Given the description of an element on the screen output the (x, y) to click on. 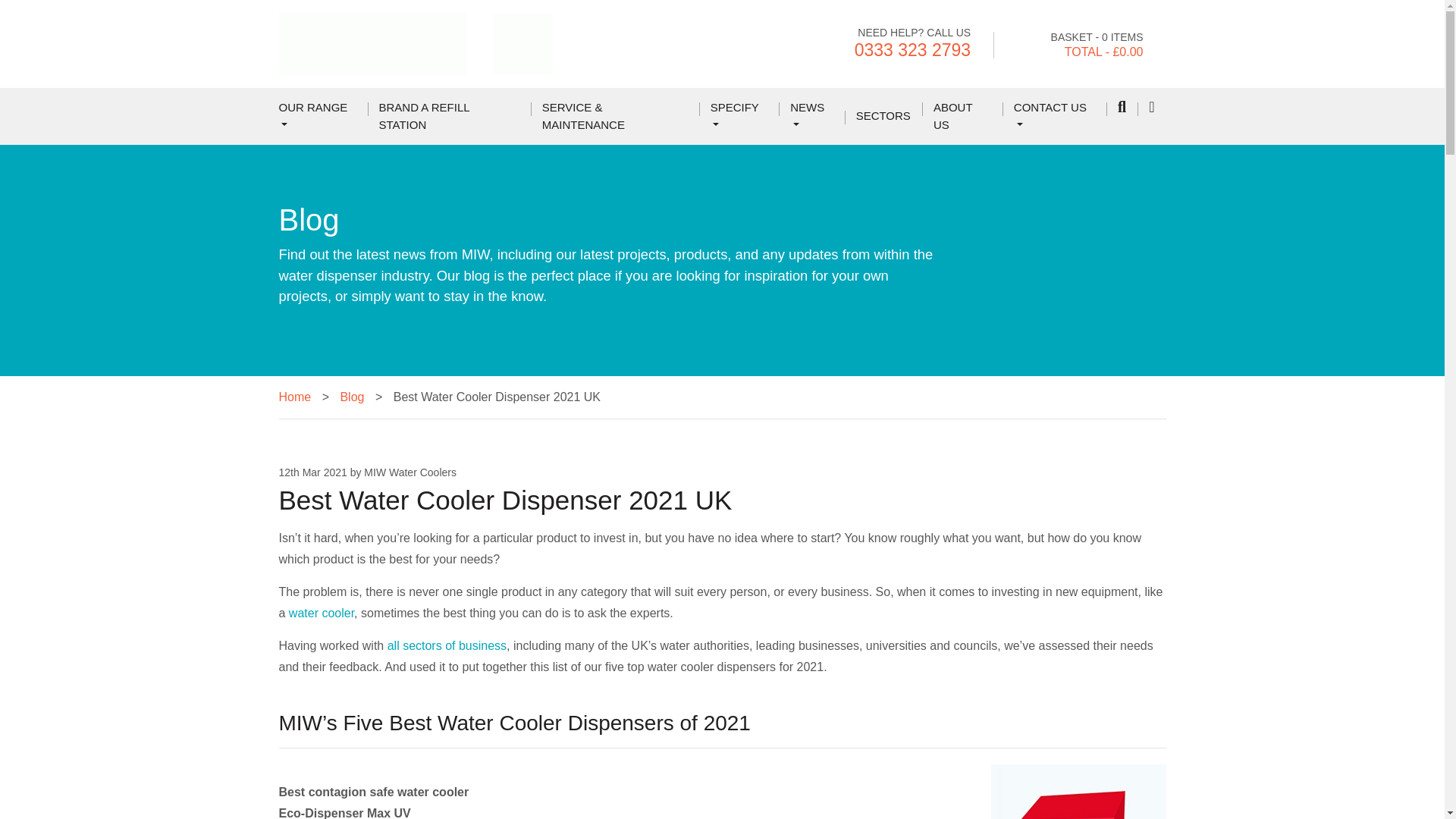
BRAND A REFILL STATION (448, 116)
SPECIFY (739, 116)
0333 323 2793 (912, 48)
OUR RANGE (317, 116)
